Given the description of an element on the screen output the (x, y) to click on. 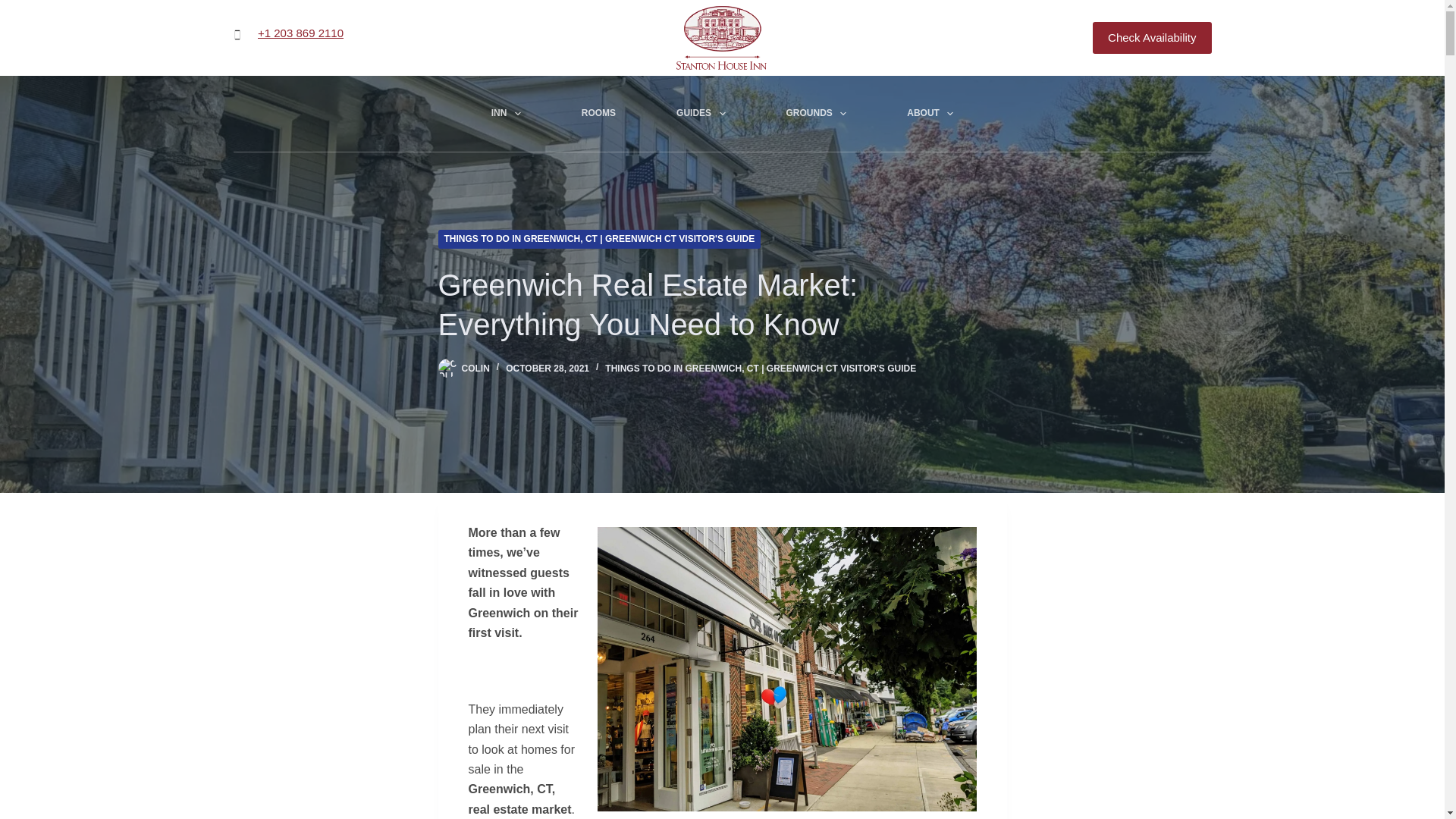
Skip to content (15, 7)
Check Availability (1152, 38)
Greenwich Real Estate Market: Everything You Need To Know 1 (786, 669)
INN (506, 113)
Greenwich Real Estate Market: Everything You Need to Know (722, 304)
Posts by Colin (475, 368)
